Given the description of an element on the screen output the (x, y) to click on. 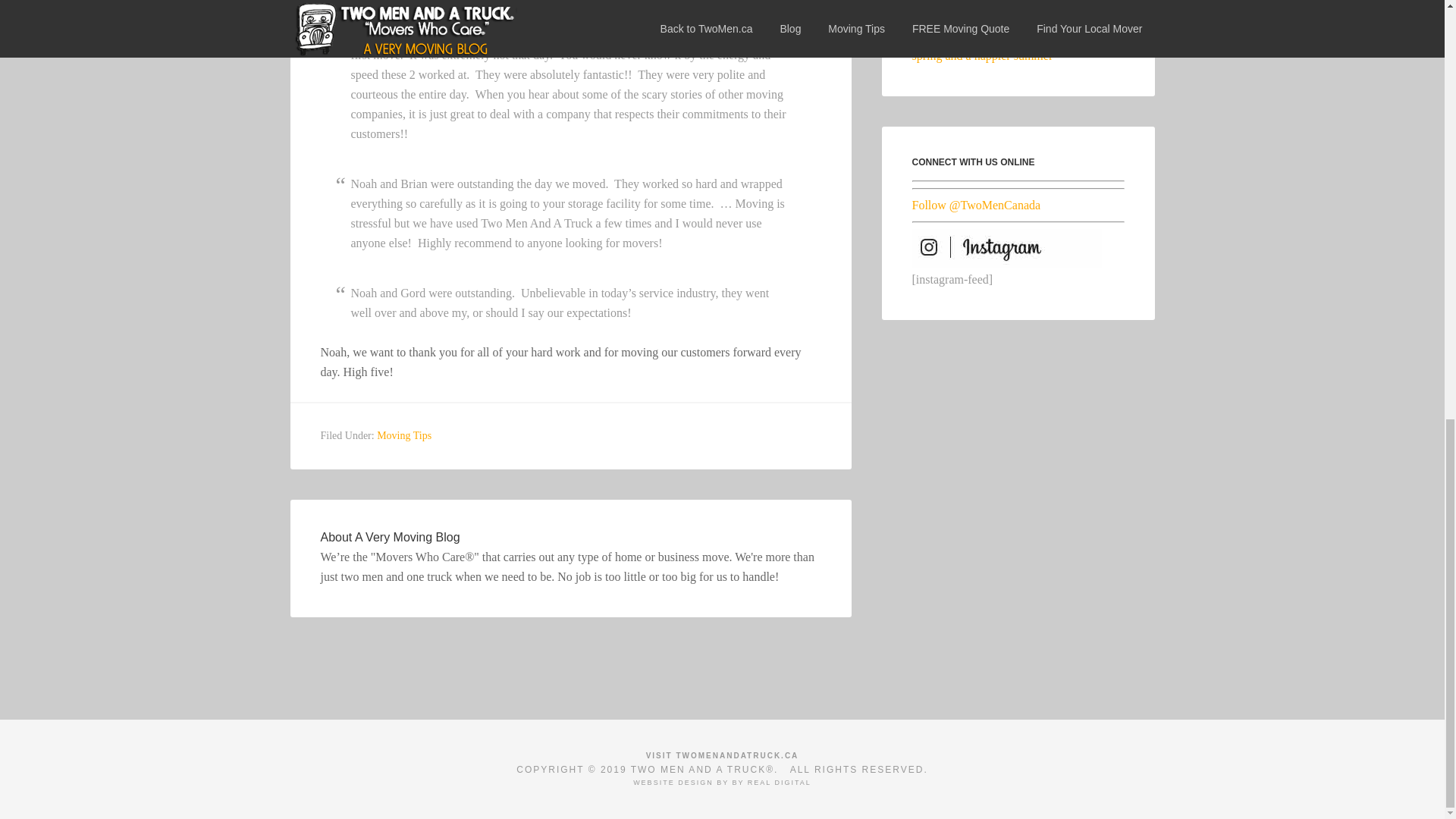
VISIT TWOMENANDATRUCK.CA (722, 755)
REAL DIGITAL (779, 782)
Moving Tips (403, 435)
local movers- TWO MEN AND A TRUCK (722, 755)
